Given the description of an element on the screen output the (x, y) to click on. 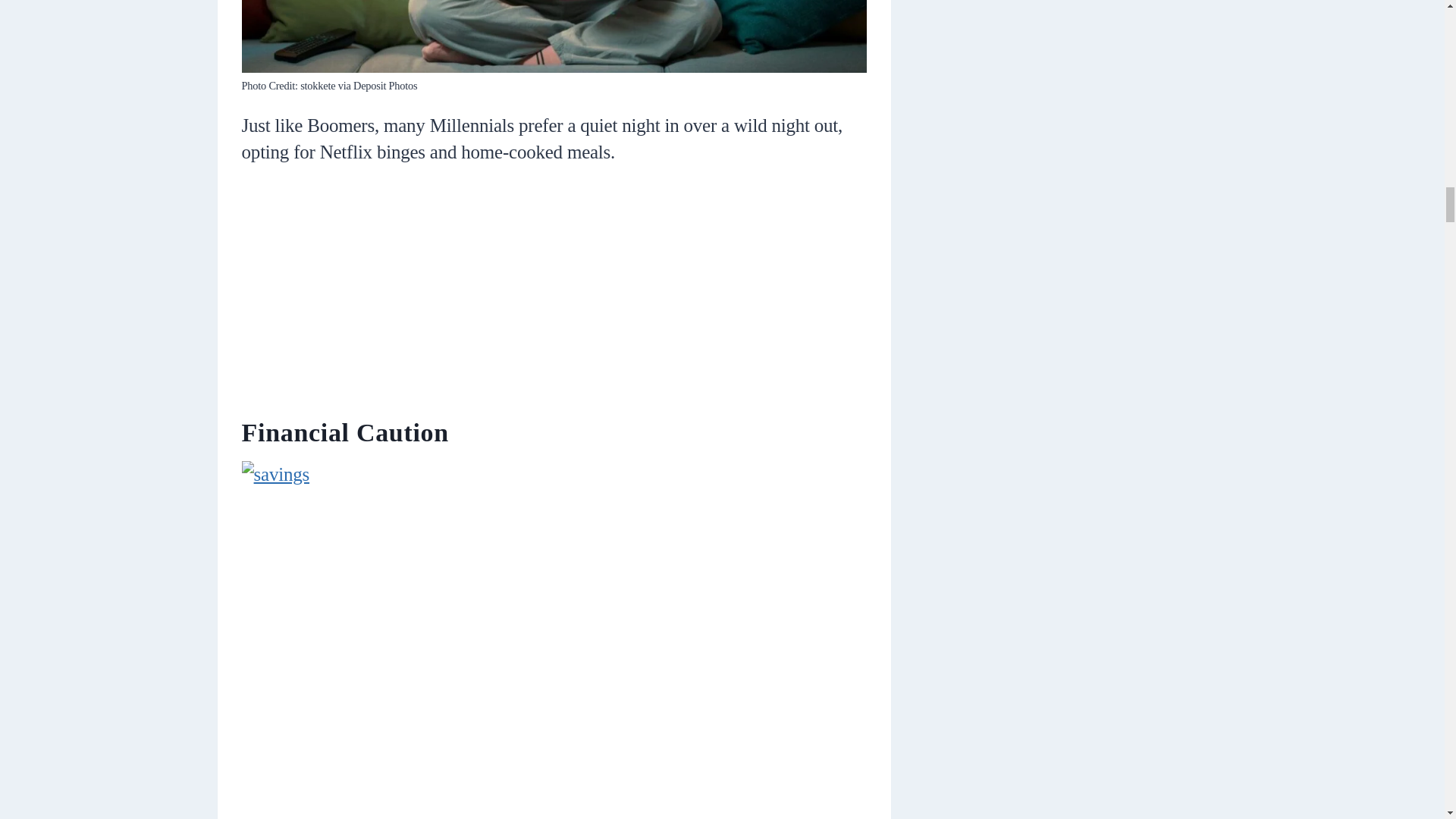
18 Reasons Why Millennials Just Might Be the New Boomers 5 (554, 36)
